Given the description of an element on the screen output the (x, y) to click on. 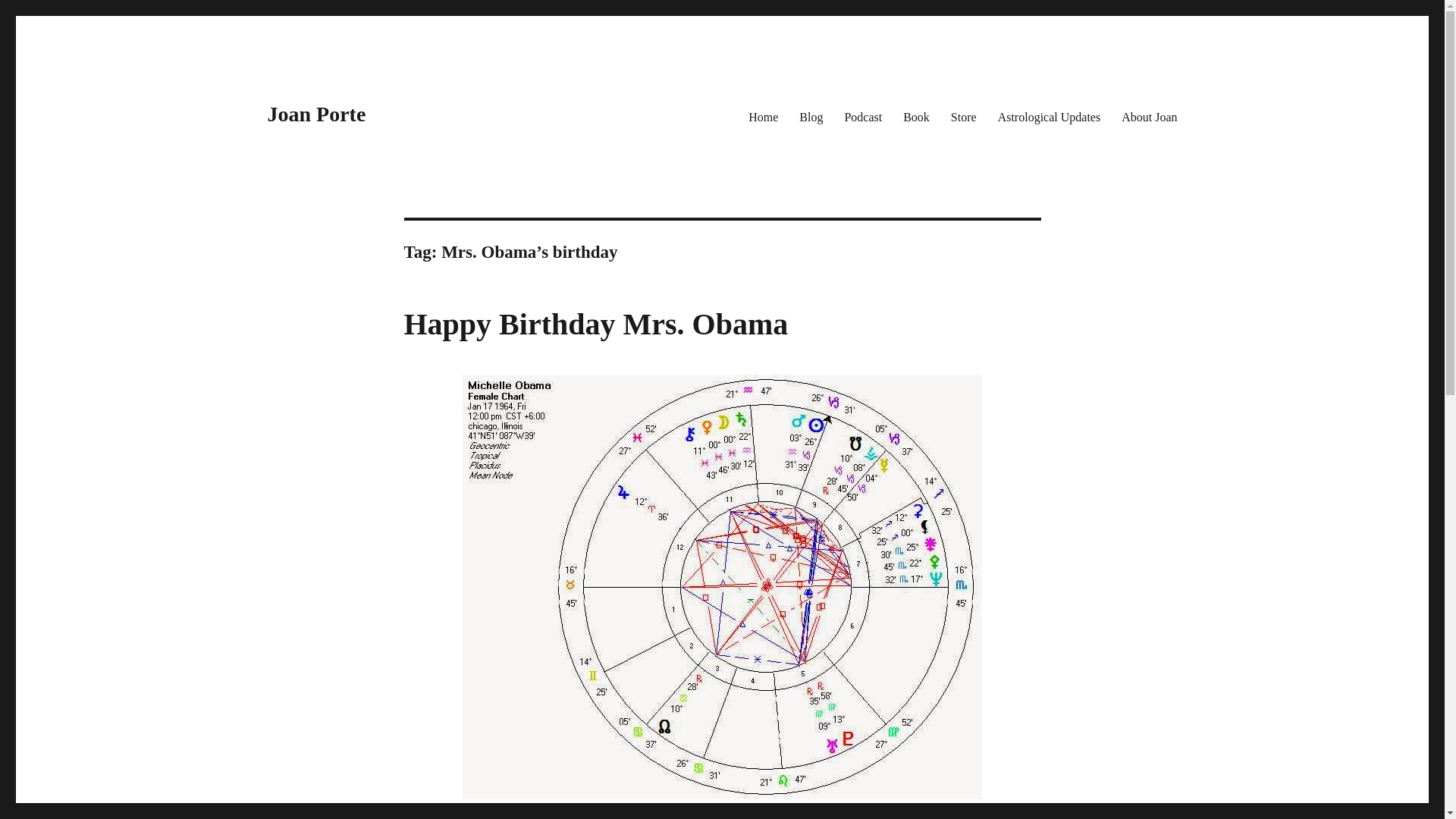
Happy Birthday Mrs. Obama (595, 324)
About Joan (1149, 116)
Joan Porte (315, 114)
Home (763, 116)
Book (916, 116)
Blog (810, 116)
Astrological Updates (1049, 116)
Podcast (862, 116)
Store (963, 116)
